Given the description of an element on the screen output the (x, y) to click on. 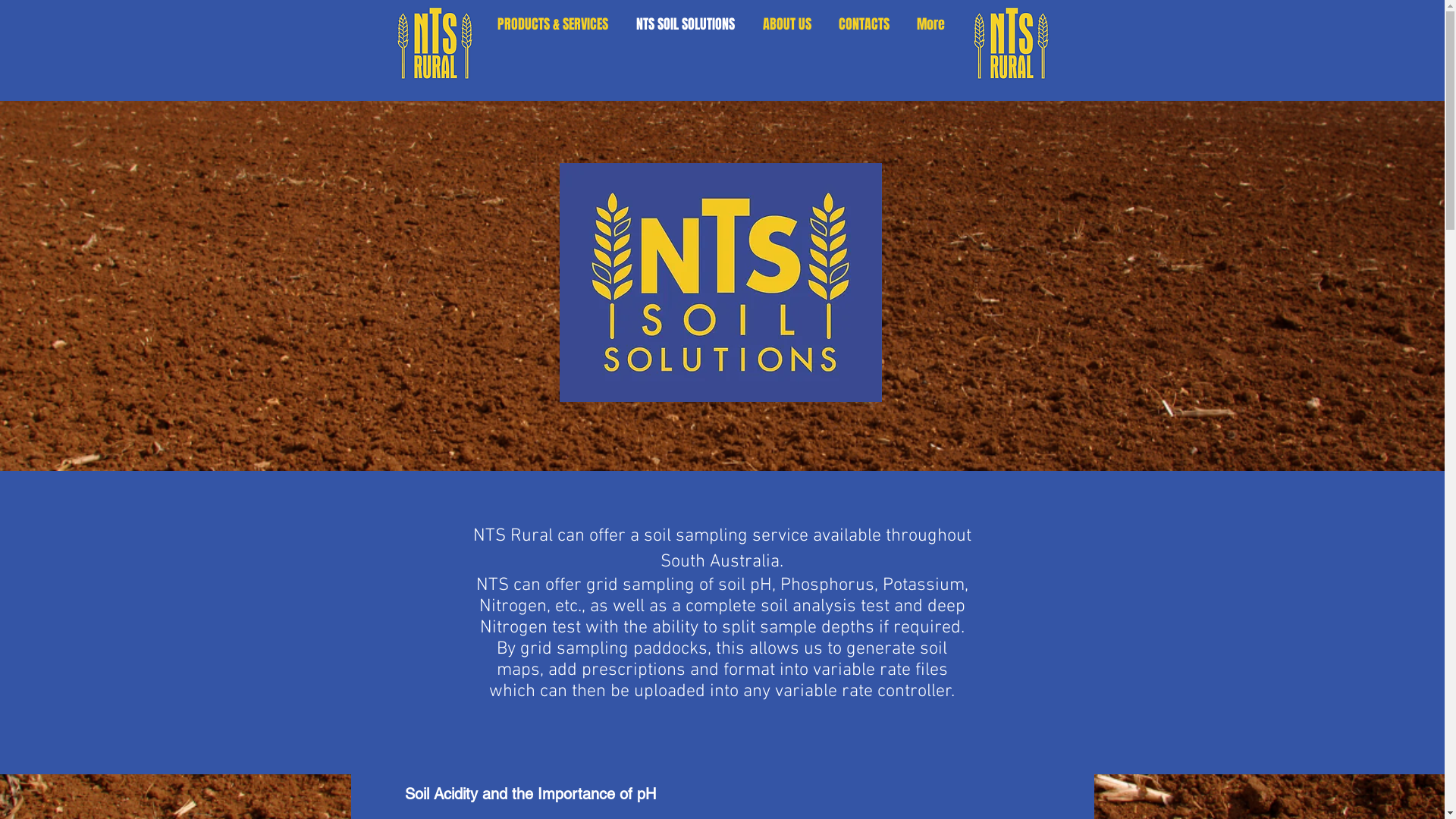
PRODUCTS & SERVICES Element type: text (552, 23)
ABOUT US Element type: text (787, 23)
CONTACTS Element type: text (864, 23)
Wix Weather Element type: hover (657, 61)
Wix Weather Element type: hover (794, 61)
NTS SOIL SOLUTIONS Element type: text (684, 23)
